Given the description of an element on the screen output the (x, y) to click on. 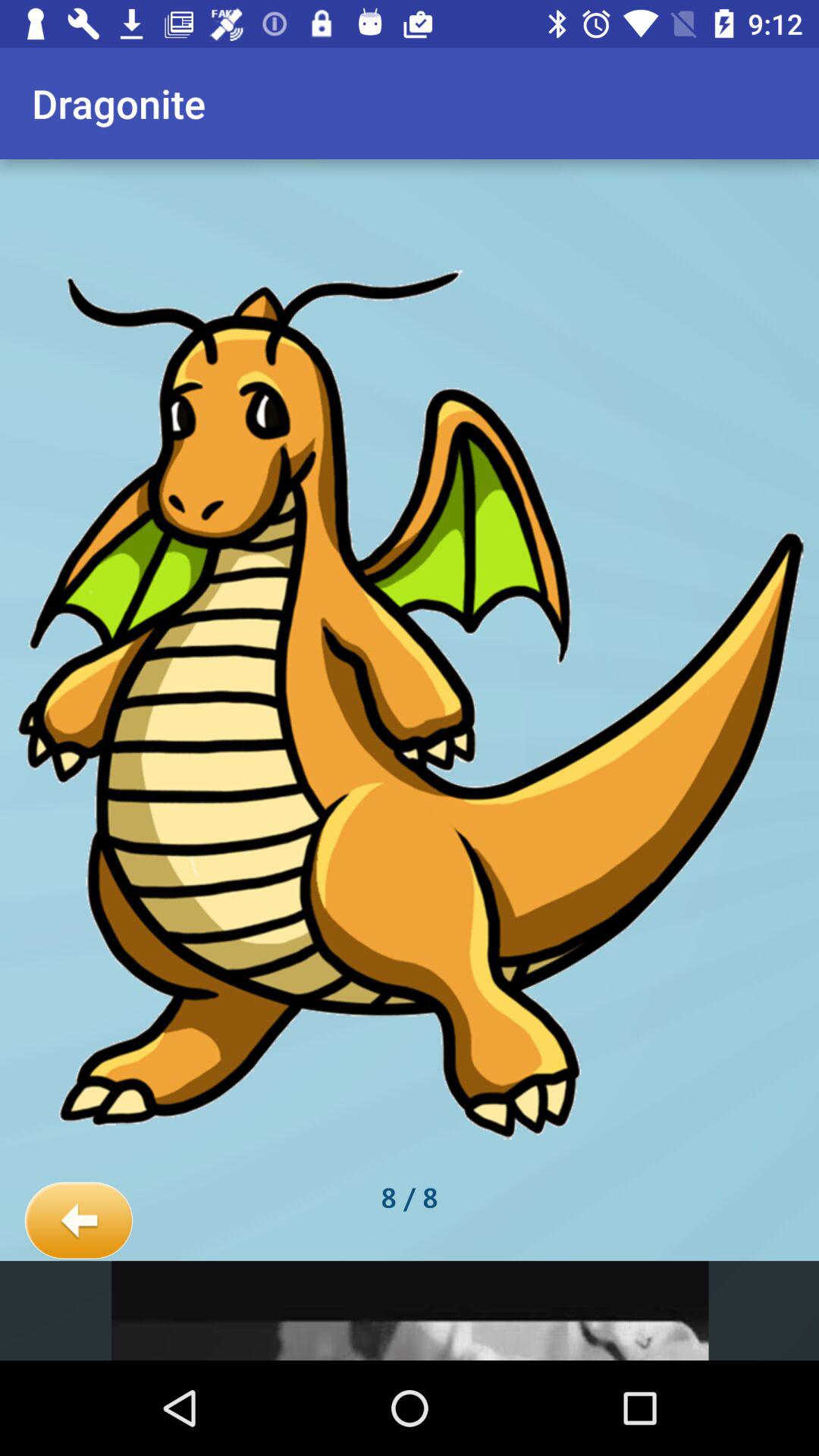
press icon at the bottom left corner (78, 1220)
